Given the description of an element on the screen output the (x, y) to click on. 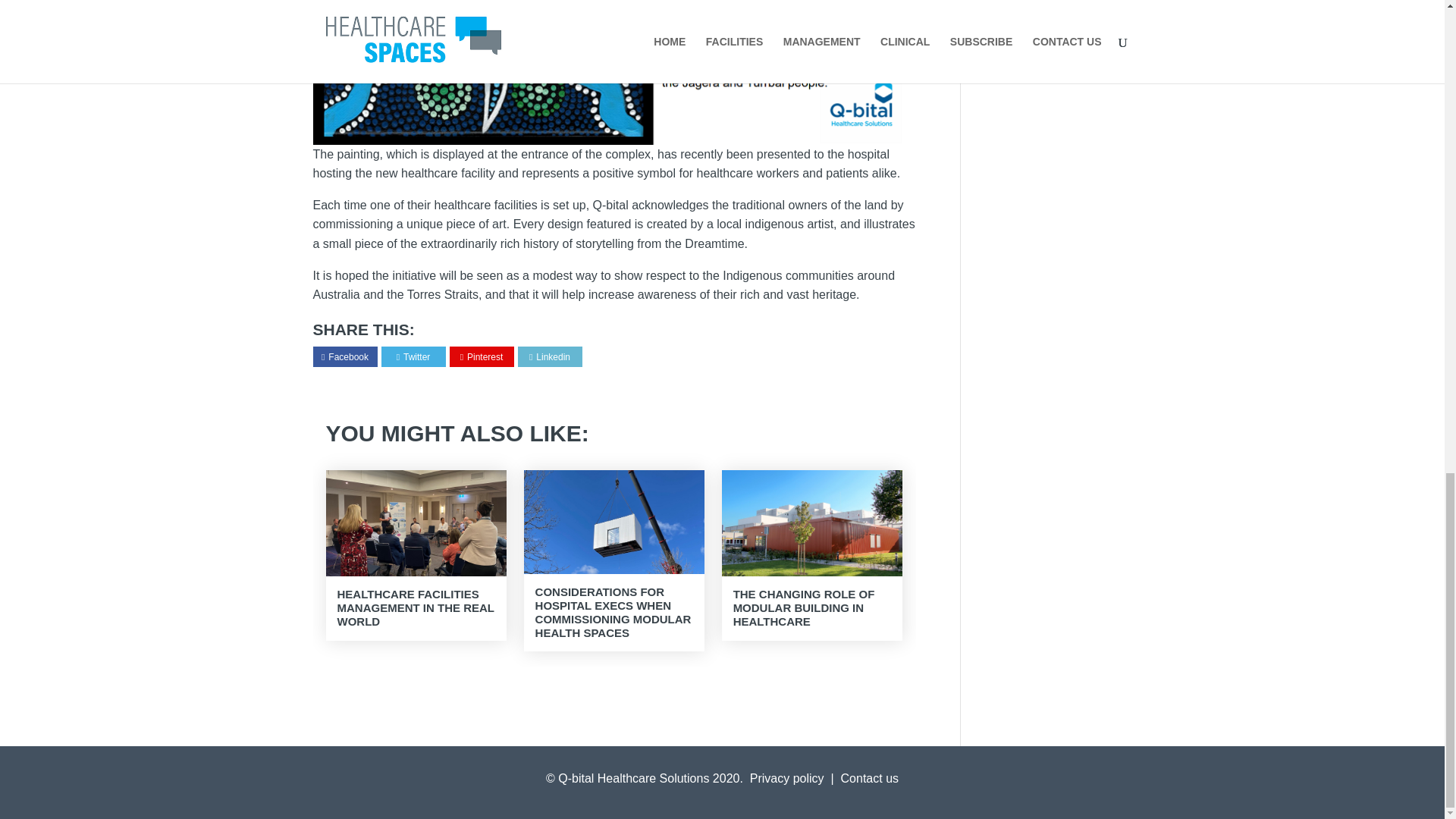
Twitter (413, 357)
Privacy policy (786, 778)
Share on Twitter (413, 357)
Contact us (869, 778)
Linkedin (549, 357)
Share on Pinterest (481, 357)
Share on Linkedin (549, 357)
Pinterest (481, 357)
Share on Facebook (344, 357)
